Given the description of an element on the screen output the (x, y) to click on. 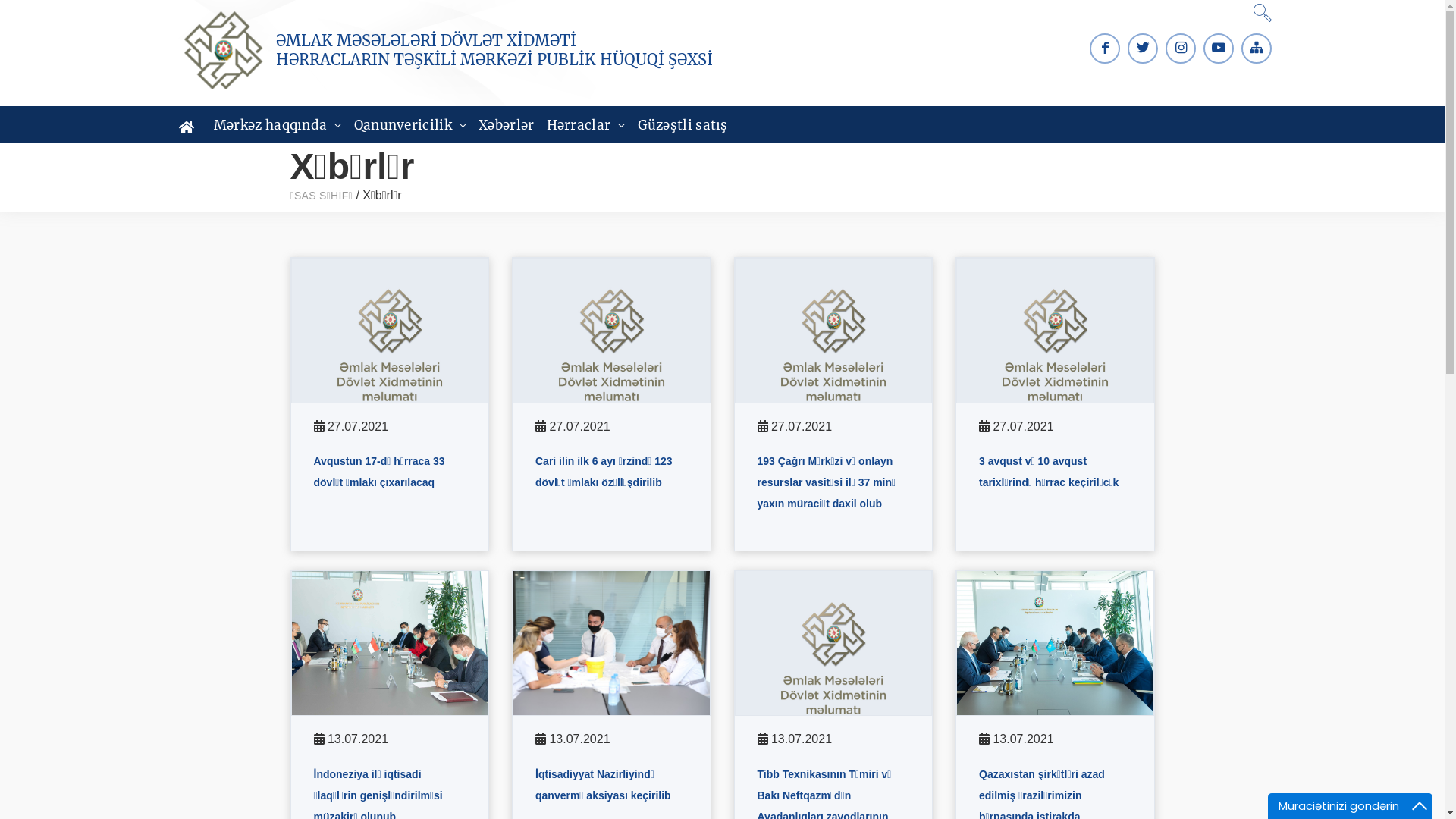
Qanunvericilik Element type: text (410, 124)
